Given the description of an element on the screen output the (x, y) to click on. 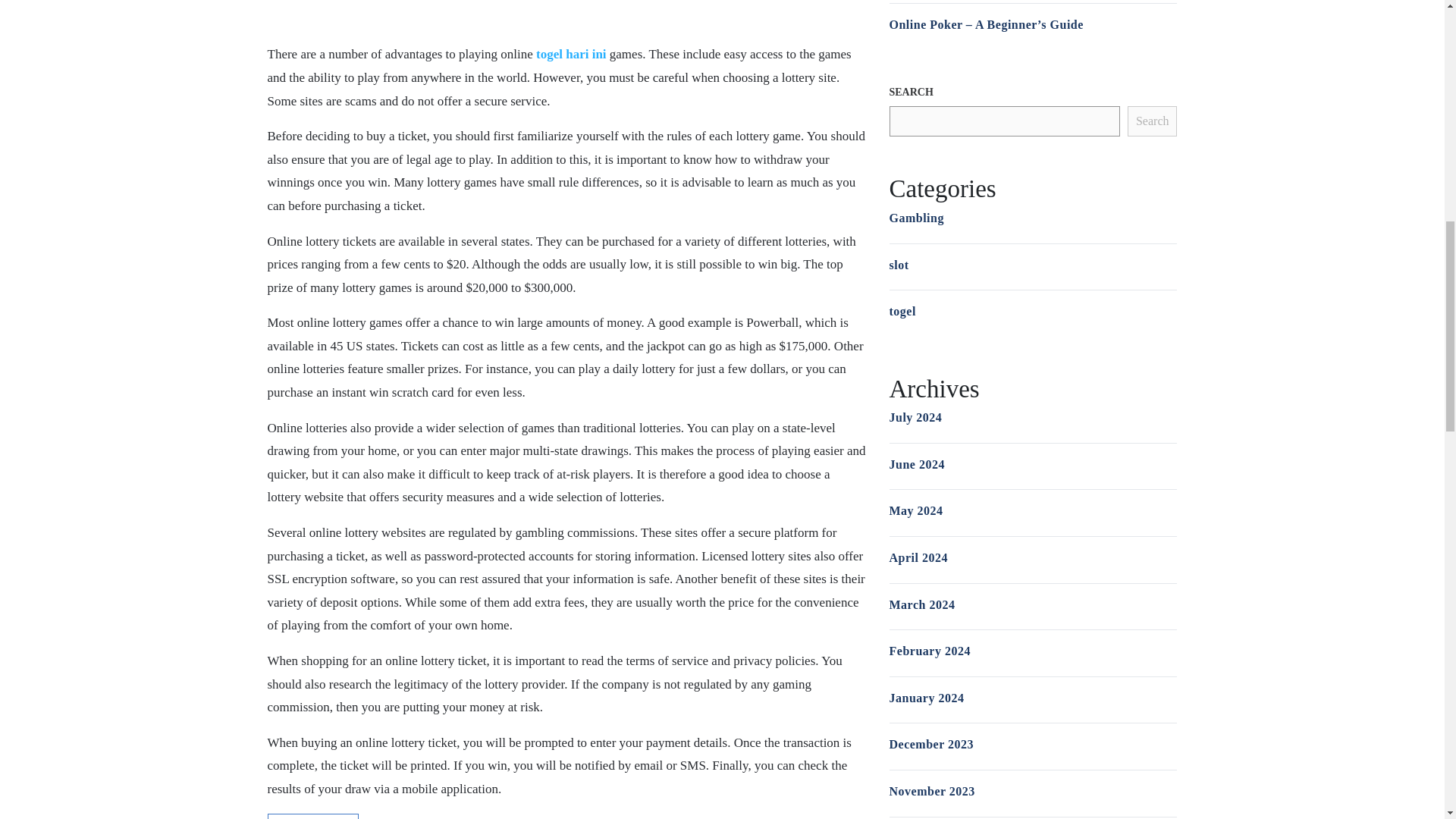
January 2024 (925, 697)
June 2024 (915, 463)
December 2023 (931, 744)
slot (898, 264)
May 2024 (915, 510)
togel (901, 310)
READ MORE (312, 816)
Gambling (915, 217)
November 2023 (931, 790)
March 2024 (921, 604)
Search (1151, 121)
July 2024 (915, 417)
February 2024 (928, 650)
togel hari ini (571, 53)
April 2024 (917, 557)
